Given the description of an element on the screen output the (x, y) to click on. 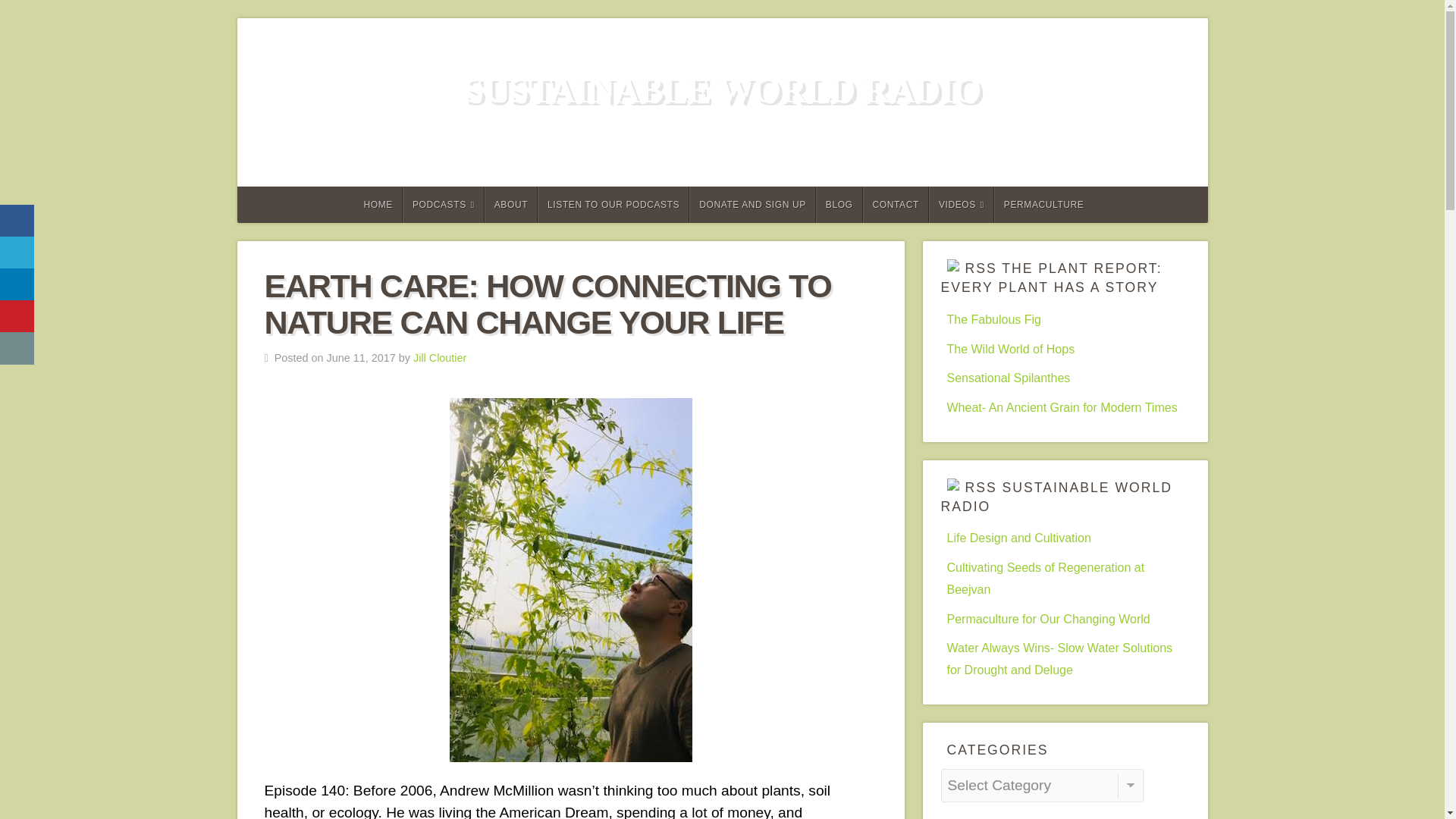
PODCASTS (443, 204)
VIDEOS (961, 204)
Share On Linkedin (16, 284)
BLOG (839, 204)
Jill Cloutier (439, 357)
Share On Facebook (16, 220)
CONTACT (895, 204)
LISTEN TO OUR PODCASTS (612, 204)
HOME (377, 204)
Share This With Your Friends (18, 283)
Contact us (16, 348)
PERMACULTURE (1043, 204)
Posts by Jill Cloutier (439, 357)
ABOUT (510, 204)
SUSTAINABLE WORLD RADIO (721, 89)
